Given the description of an element on the screen output the (x, y) to click on. 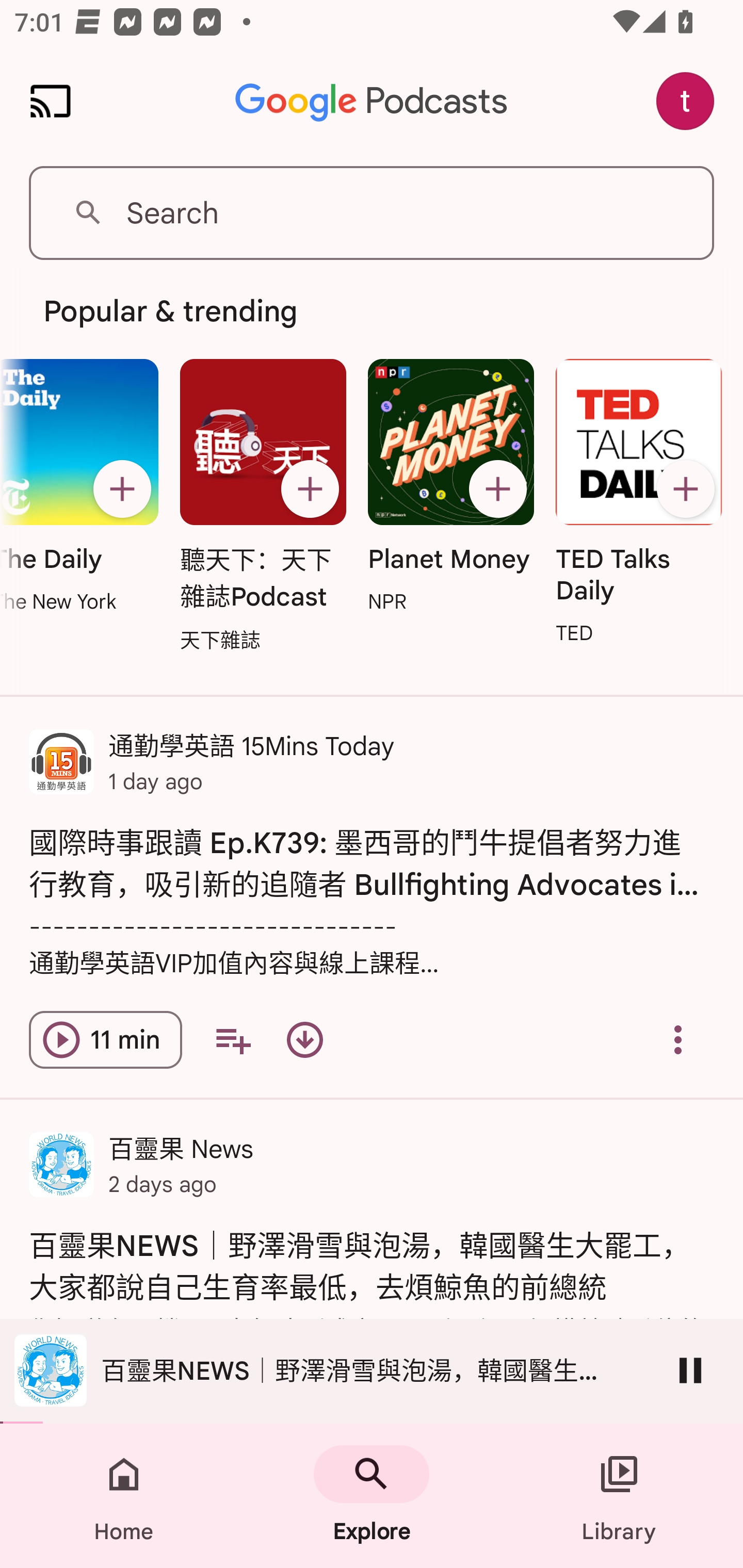
Cast. Disconnected (50, 101)
Search (371, 212)
The Daily Subscribe The Daily The New York Times (84, 487)
聽天下：天下雜誌Podcast Subscribe 聽天下：天下雜誌Podcast 天下雜誌 (263, 507)
Planet Money Subscribe Planet Money NPR (450, 487)
TED Talks Daily Subscribe TED Talks Daily TED (638, 503)
Subscribe (122, 489)
Subscribe (310, 489)
Subscribe (498, 489)
Subscribe (685, 489)
Add to your queue (232, 1040)
Download episode (304, 1040)
Overflow menu (677, 1040)
Pause (690, 1370)
Home (123, 1495)
Library (619, 1495)
